Given the description of an element on the screen output the (x, y) to click on. 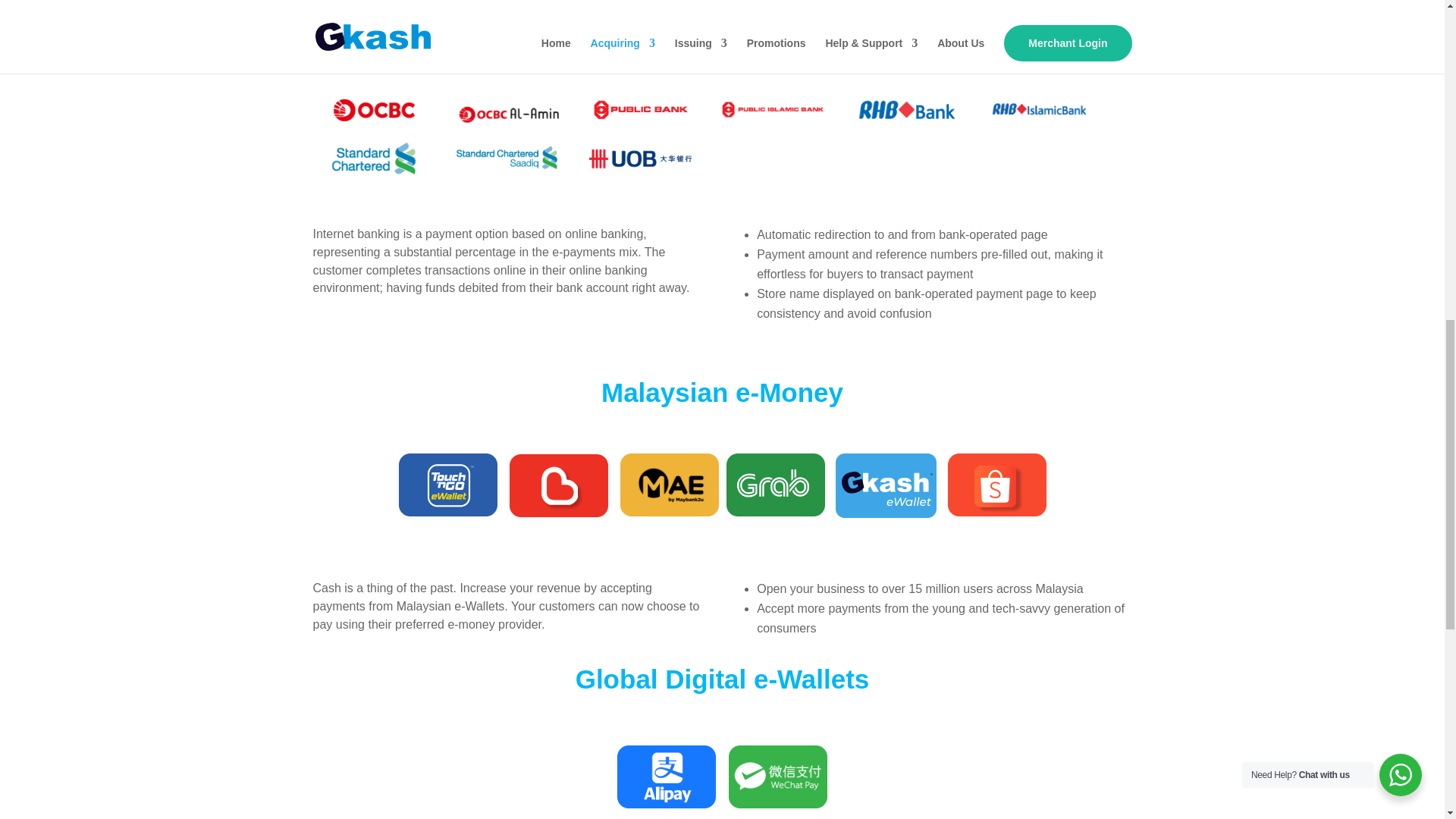
e-wallet (722, 485)
china-digital-wallet (721, 777)
